Given the description of an element on the screen output the (x, y) to click on. 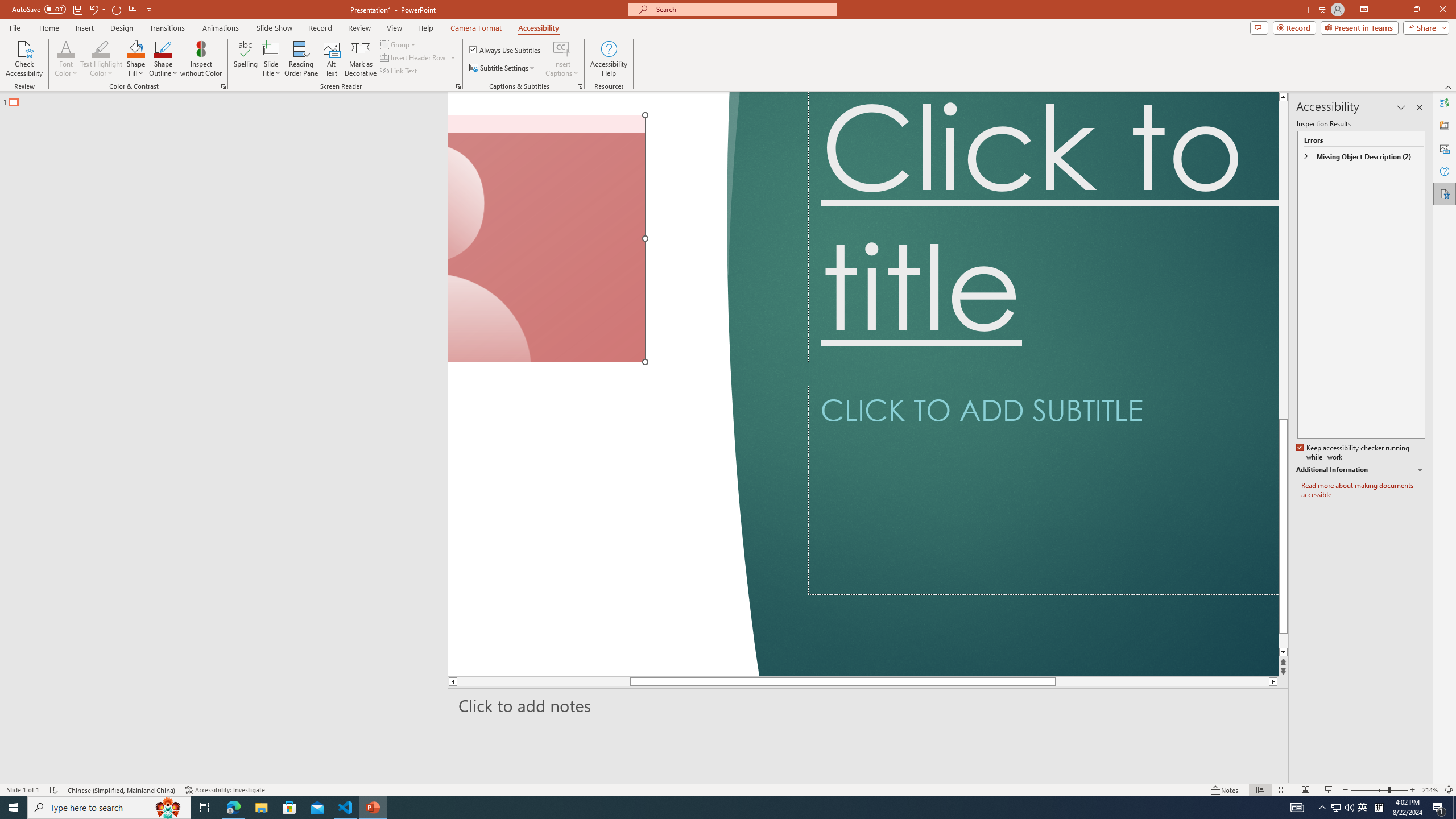
Insert Captions (561, 48)
Zoom 214% (1430, 790)
Insert Header Row (413, 56)
Subtitle TextBox (1043, 489)
Always Use Subtitles (505, 49)
Decorative Locked (602, 383)
